Given the description of an element on the screen output the (x, y) to click on. 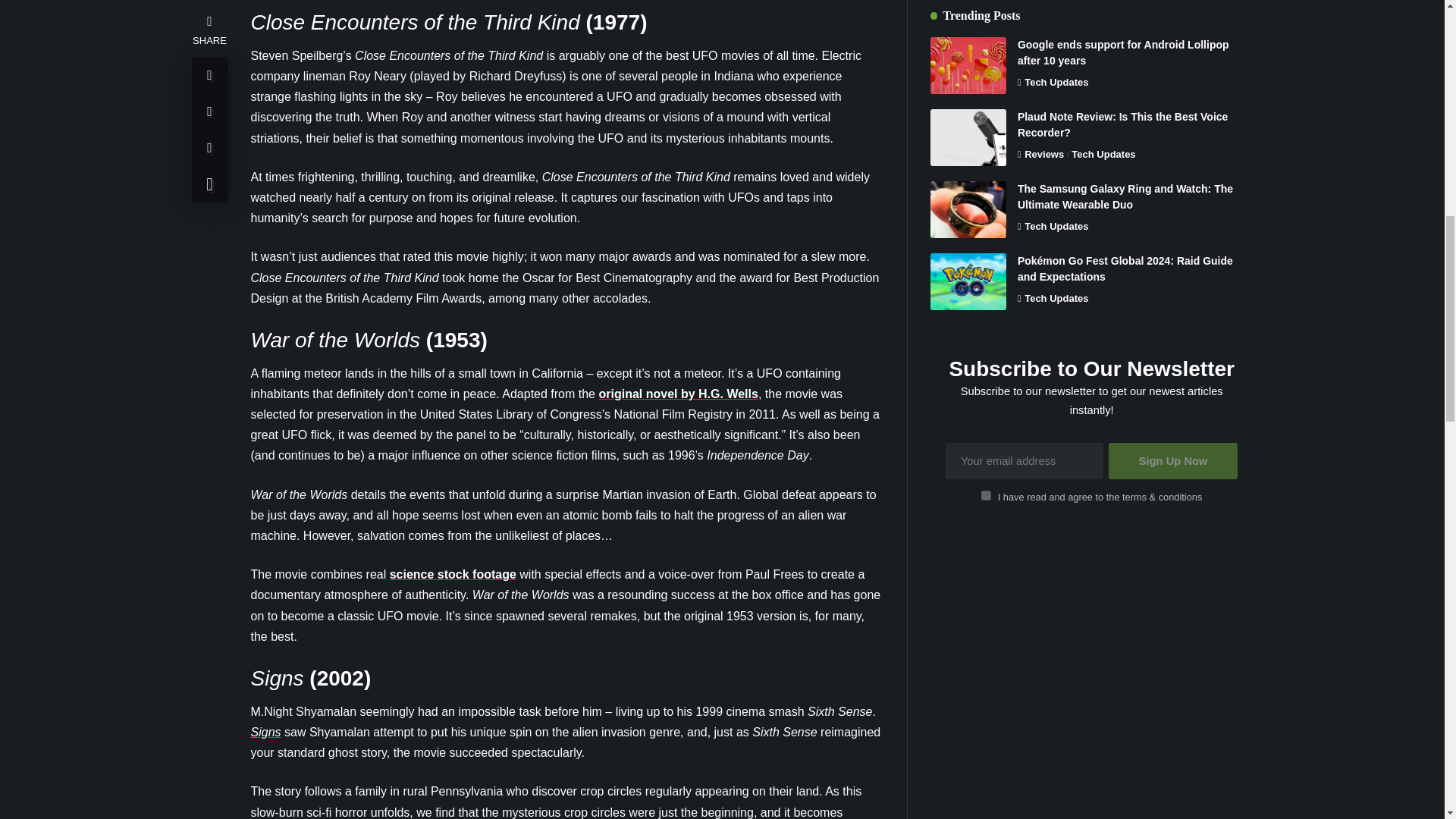
Sign Up Now (1173, 380)
1 (986, 415)
